Given the description of an element on the screen output the (x, y) to click on. 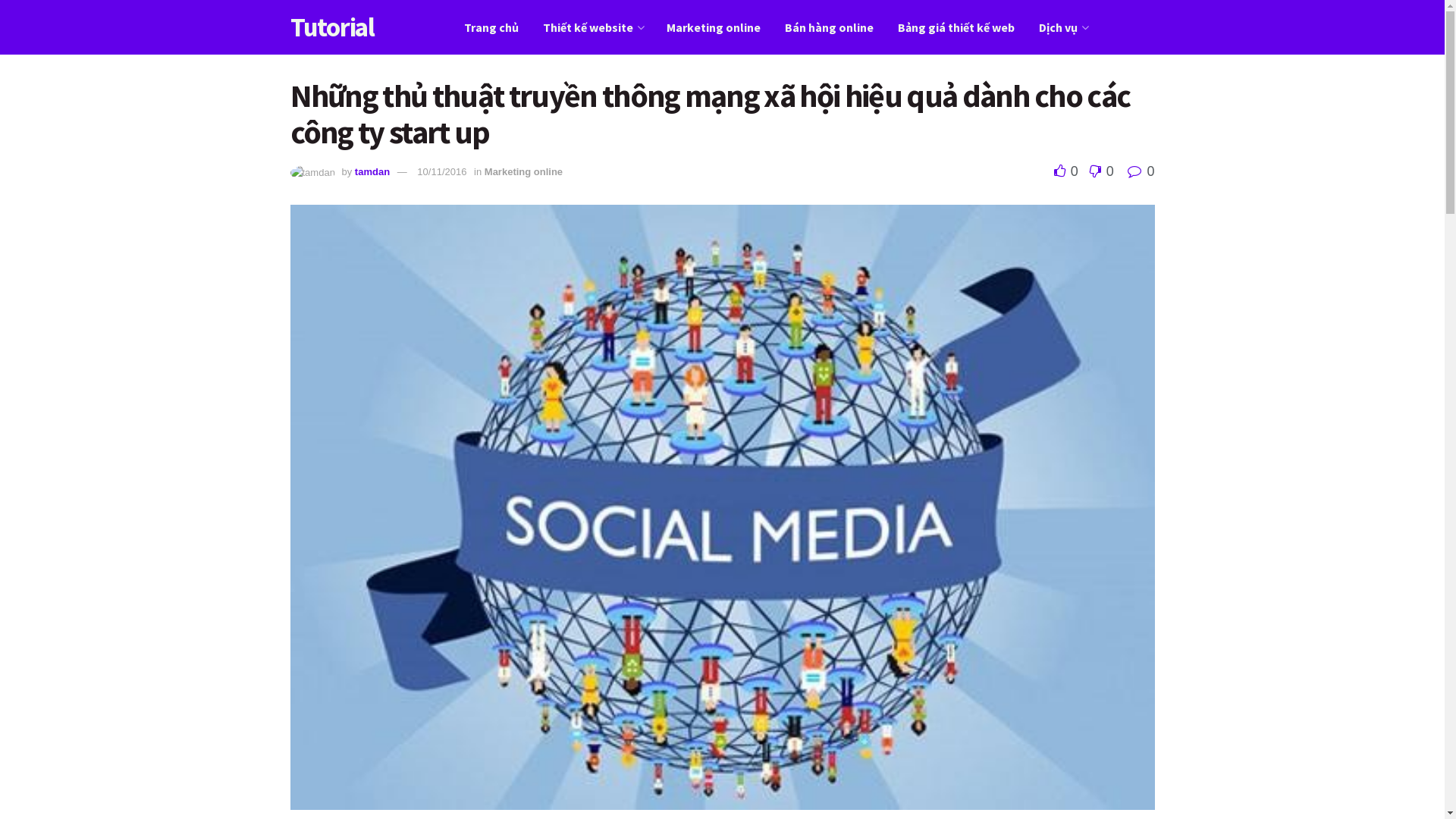
tamdan Element type: text (371, 171)
Marketing online Element type: text (523, 171)
0 Element type: text (1097, 170)
Marketing online Element type: text (713, 27)
10/11/2016 Element type: text (441, 171)
0 Element type: text (1068, 170)
Tutorial Element type: text (331, 26)
0 Element type: text (1140, 170)
